Given the description of an element on the screen output the (x, y) to click on. 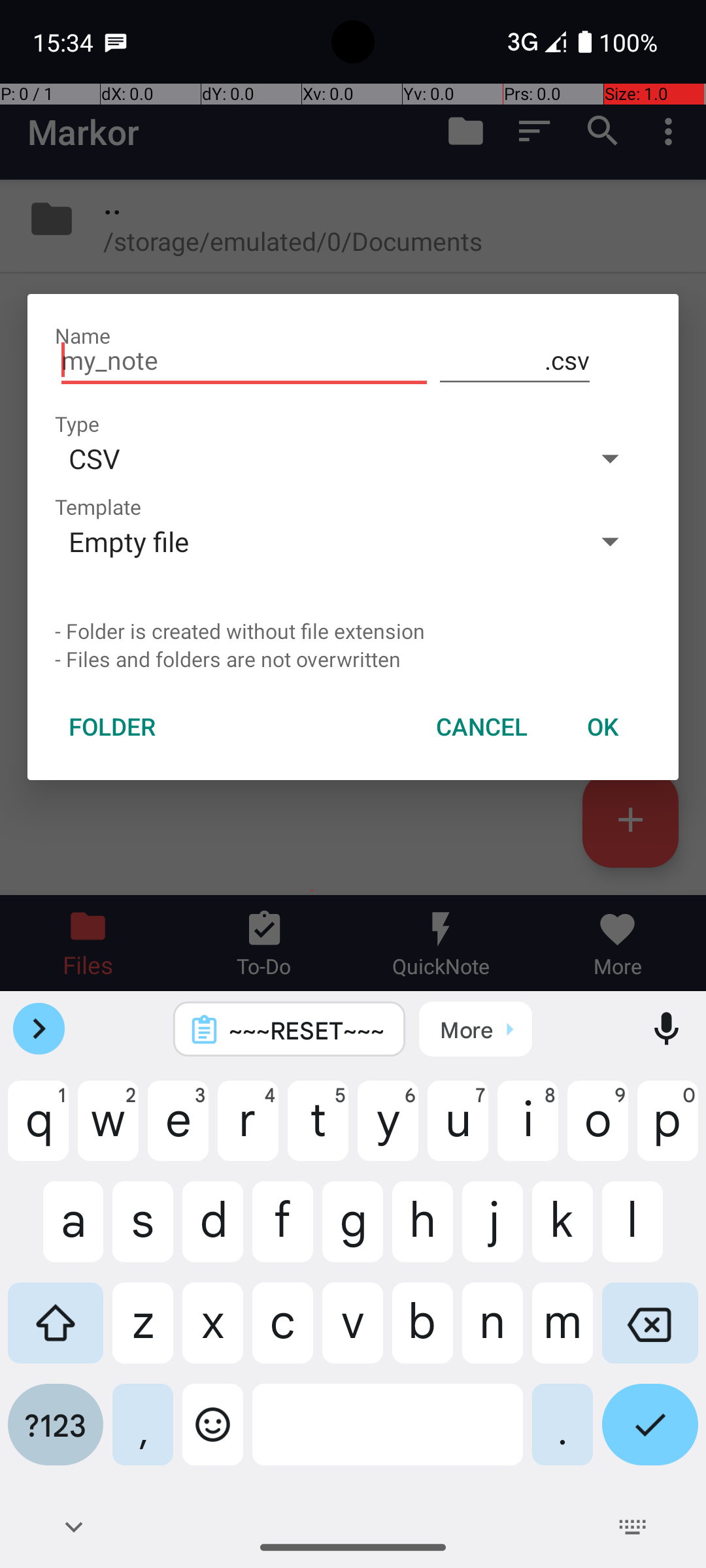
.csv Element type: android.widget.EditText (514, 360)
CSV Element type: android.widget.TextView (311, 457)
~~~RESET~~~ Element type: android.widget.TextView (306, 1029)
